Given the description of an element on the screen output the (x, y) to click on. 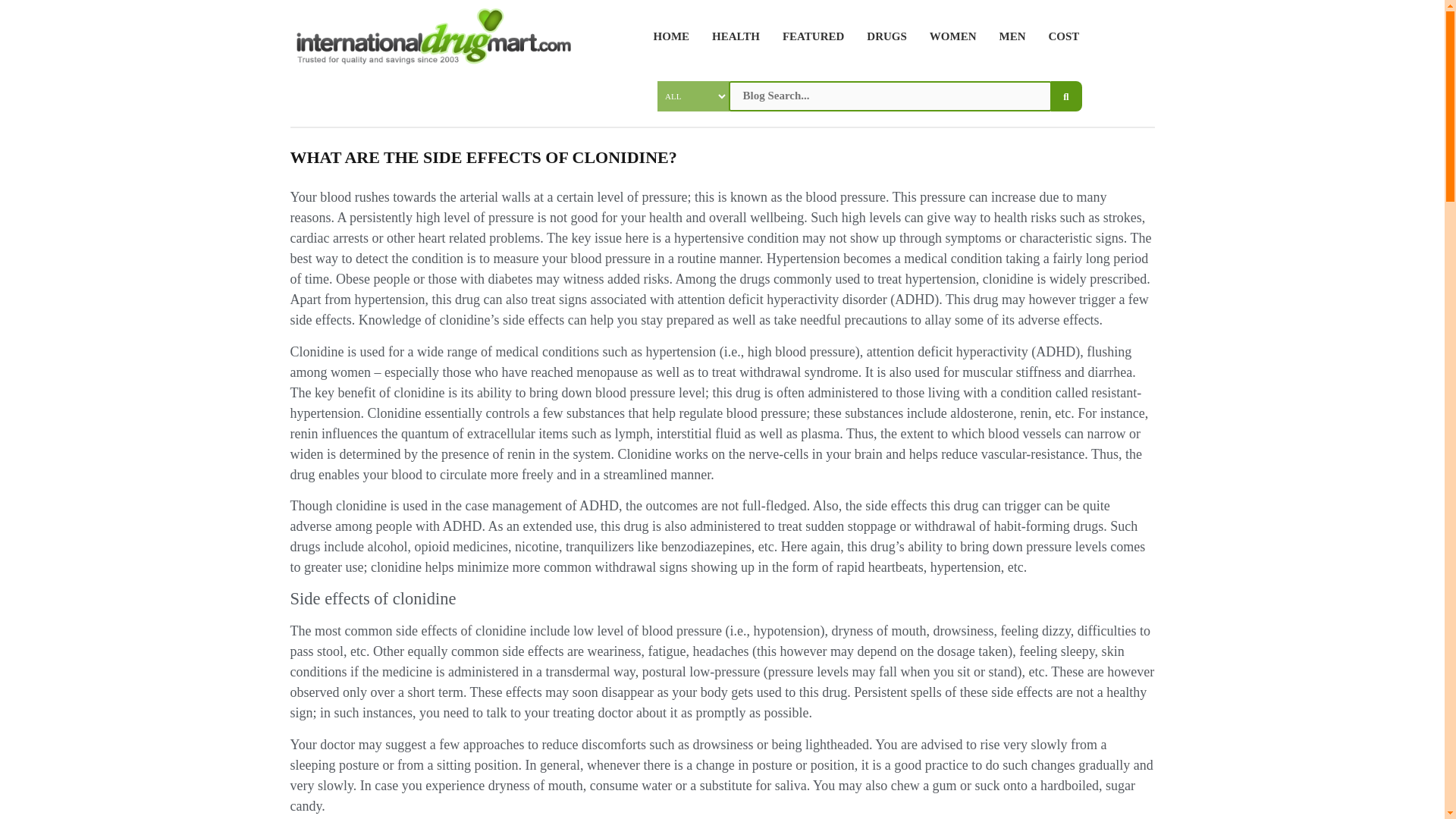
HEALTH (730, 36)
COST (1058, 36)
FEATURED (807, 36)
DRUGS (881, 36)
HOME (666, 36)
MEN (1006, 36)
WOMEN (947, 36)
